Given the description of an element on the screen output the (x, y) to click on. 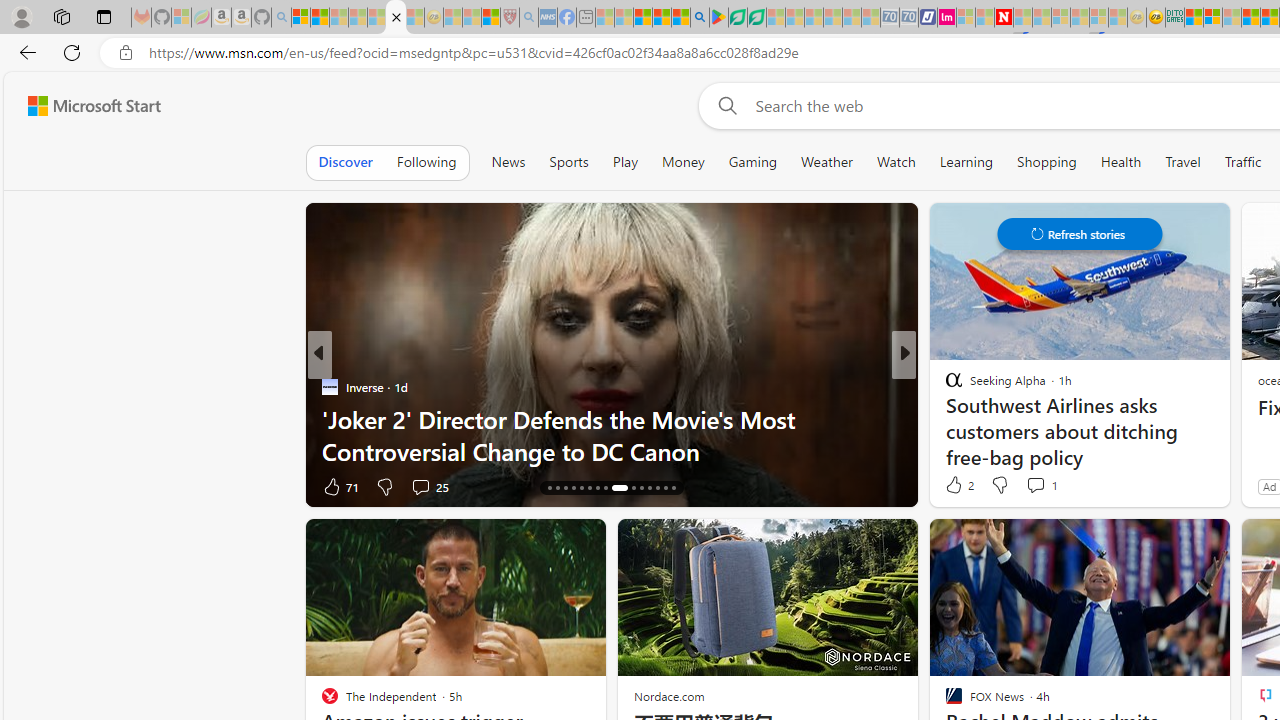
Microsoft Start (642, 17)
AutomationID: tab-24 (613, 487)
Discover (345, 162)
News (507, 161)
Shopping (1046, 162)
AutomationID: tab-25 (626, 487)
Money (682, 161)
Watch (896, 162)
119 Like (959, 486)
Robert H. Shmerling, MD - Harvard Health - Sleeping (509, 17)
AutomationID: tab-17 (556, 487)
Hide this story (1169, 542)
Gaming (752, 161)
